Given the description of an element on the screen output the (x, y) to click on. 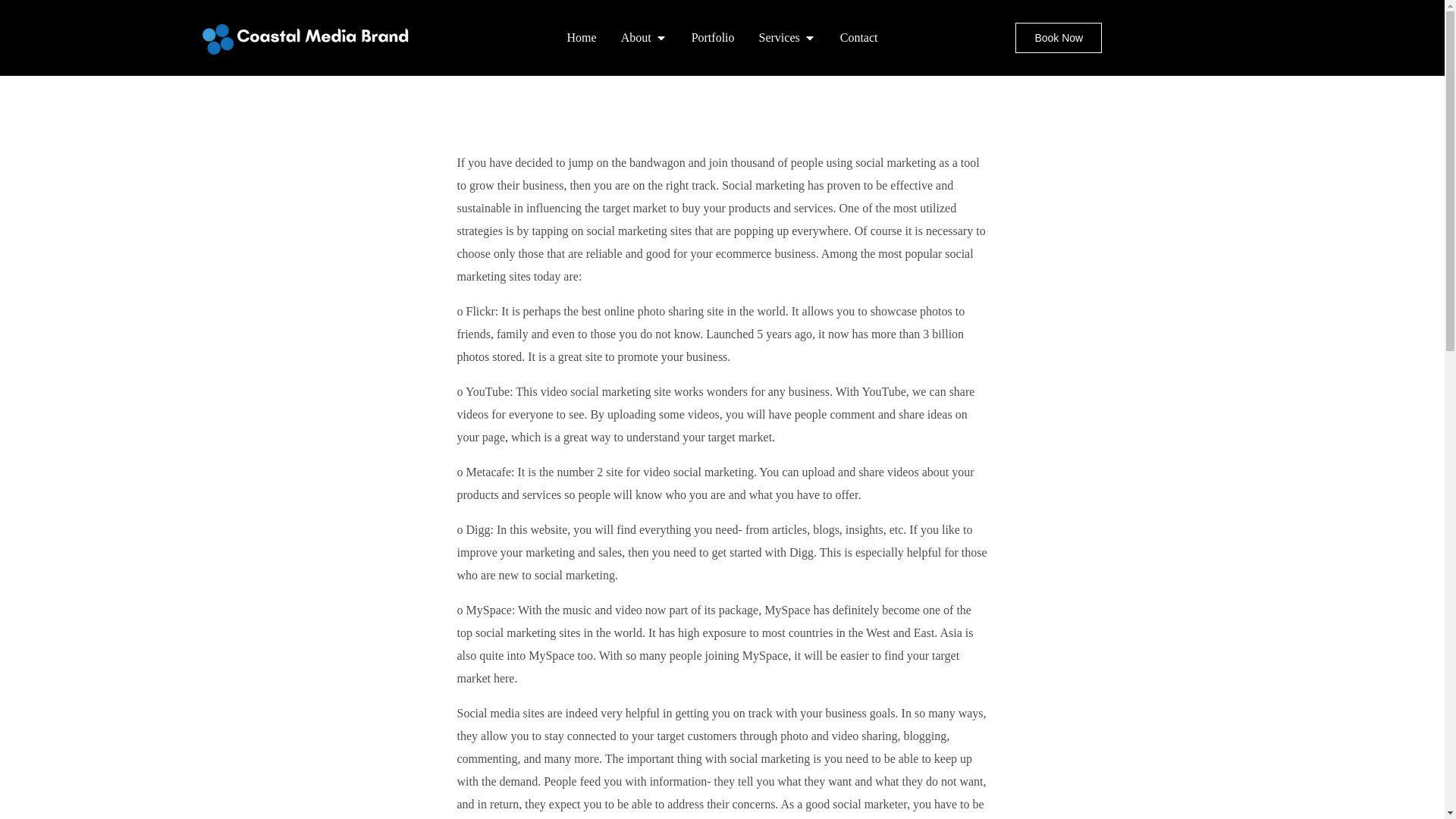
Book Now (1058, 37)
Services (778, 37)
About (635, 37)
Portfolio (713, 37)
Home (581, 37)
Contact (858, 37)
